Given the description of an element on the screen output the (x, y) to click on. 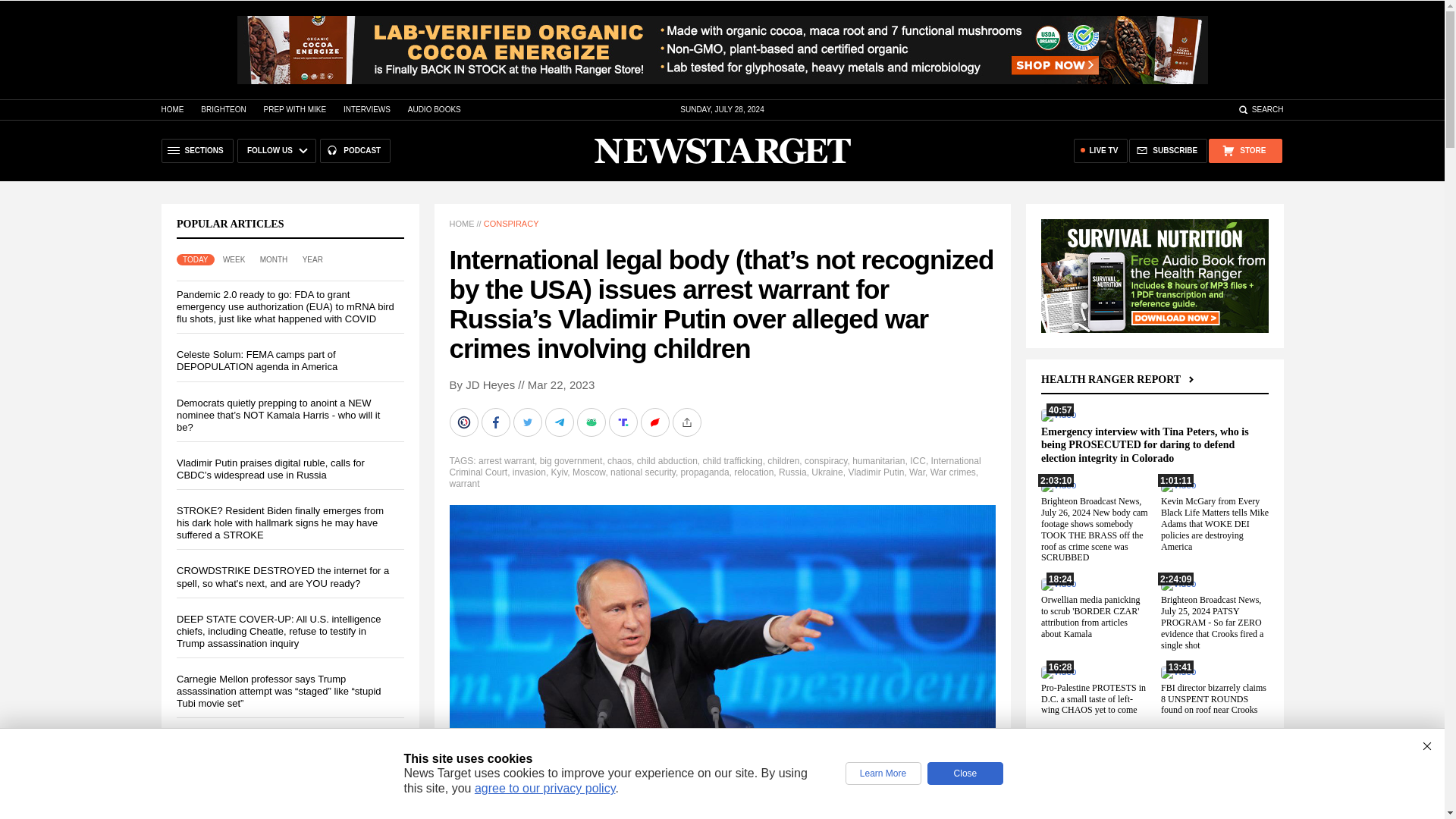
Share on Gettr (655, 421)
SEARCH (1260, 109)
Share on Facebook (496, 421)
Share on Twitter (528, 421)
SUBSCRIBE (1168, 150)
PREP WITH MIKE (294, 109)
Share on Truth.Social (624, 421)
Share on Telegram (560, 421)
LIVE TV (1101, 150)
Share on GAB (592, 421)
AUDIO BOOKS (434, 109)
